Given the description of an element on the screen output the (x, y) to click on. 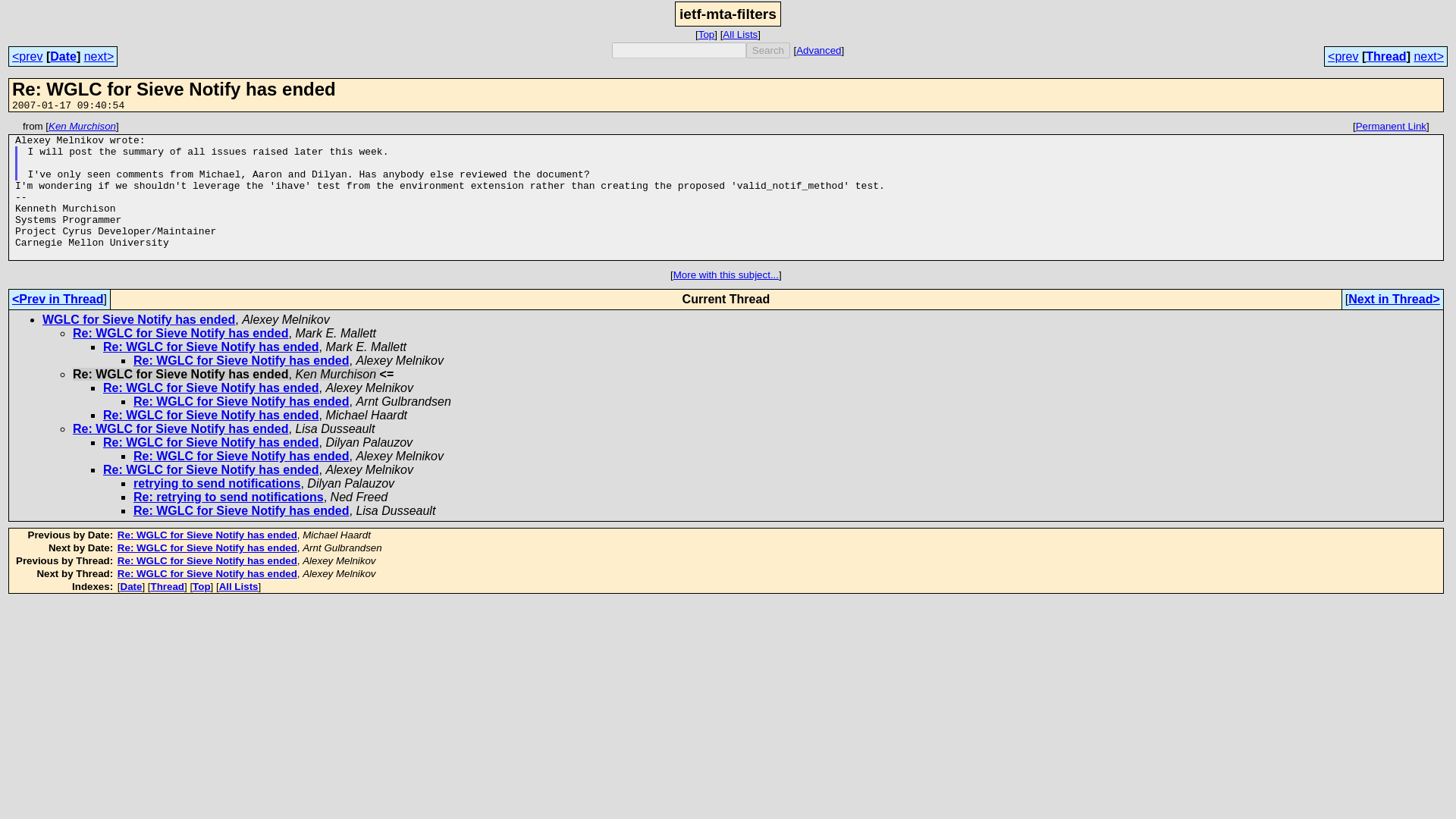
Ken Murchison (82, 125)
Re: WGLC for Sieve Notify has ended (207, 573)
Re: WGLC for Sieve Notify has ended (210, 387)
Date (63, 56)
Re: WGLC for Sieve Notify has ended (210, 469)
Top (200, 586)
Re: WGLC for Sieve Notify has ended (210, 414)
Re: WGLC for Sieve Notify has ended (207, 547)
Re: retrying to send notifications (228, 496)
Permanent Link (1390, 125)
